Given the description of an element on the screen output the (x, y) to click on. 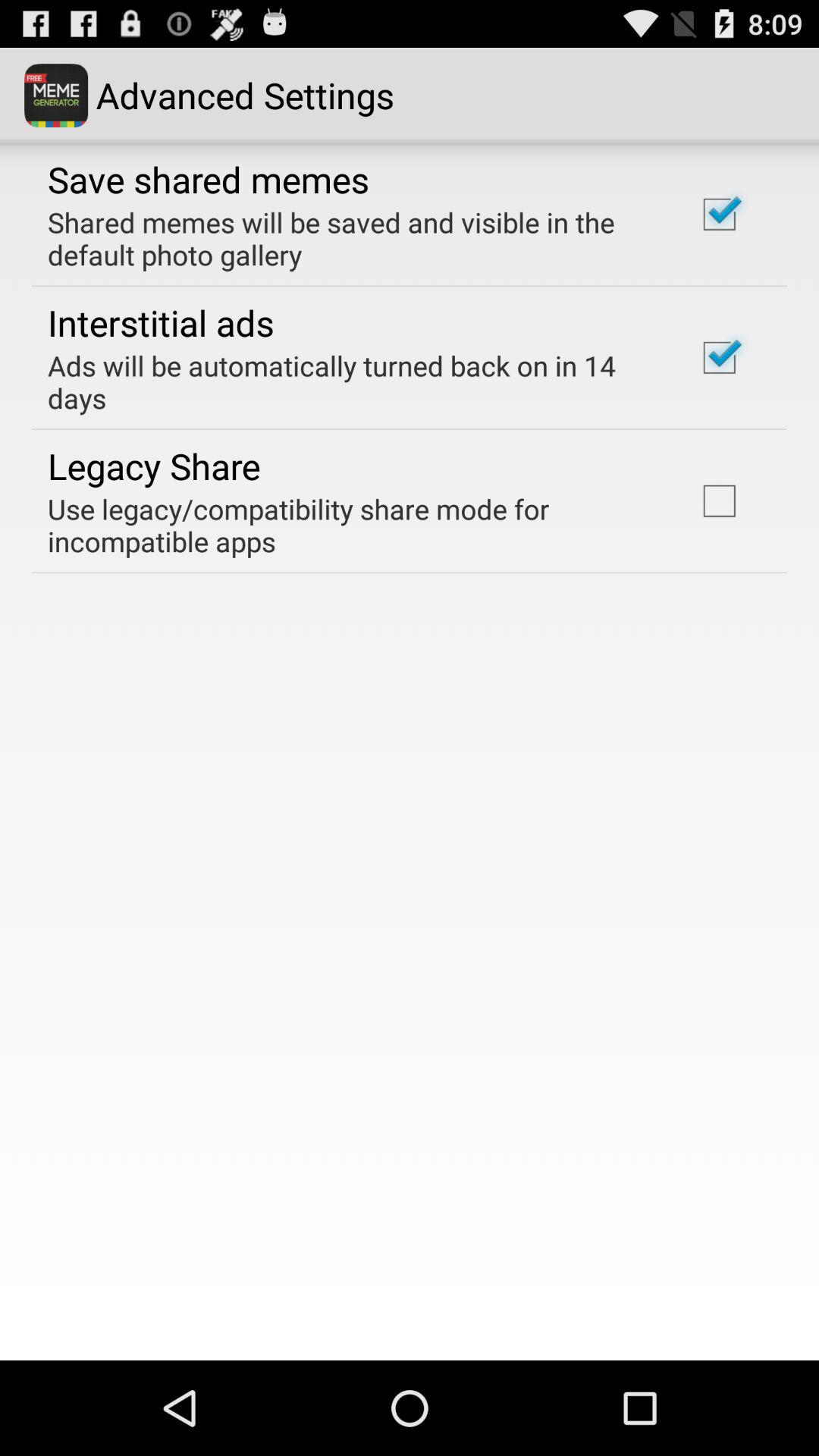
tap item below shared memes will app (160, 322)
